Given the description of an element on the screen output the (x, y) to click on. 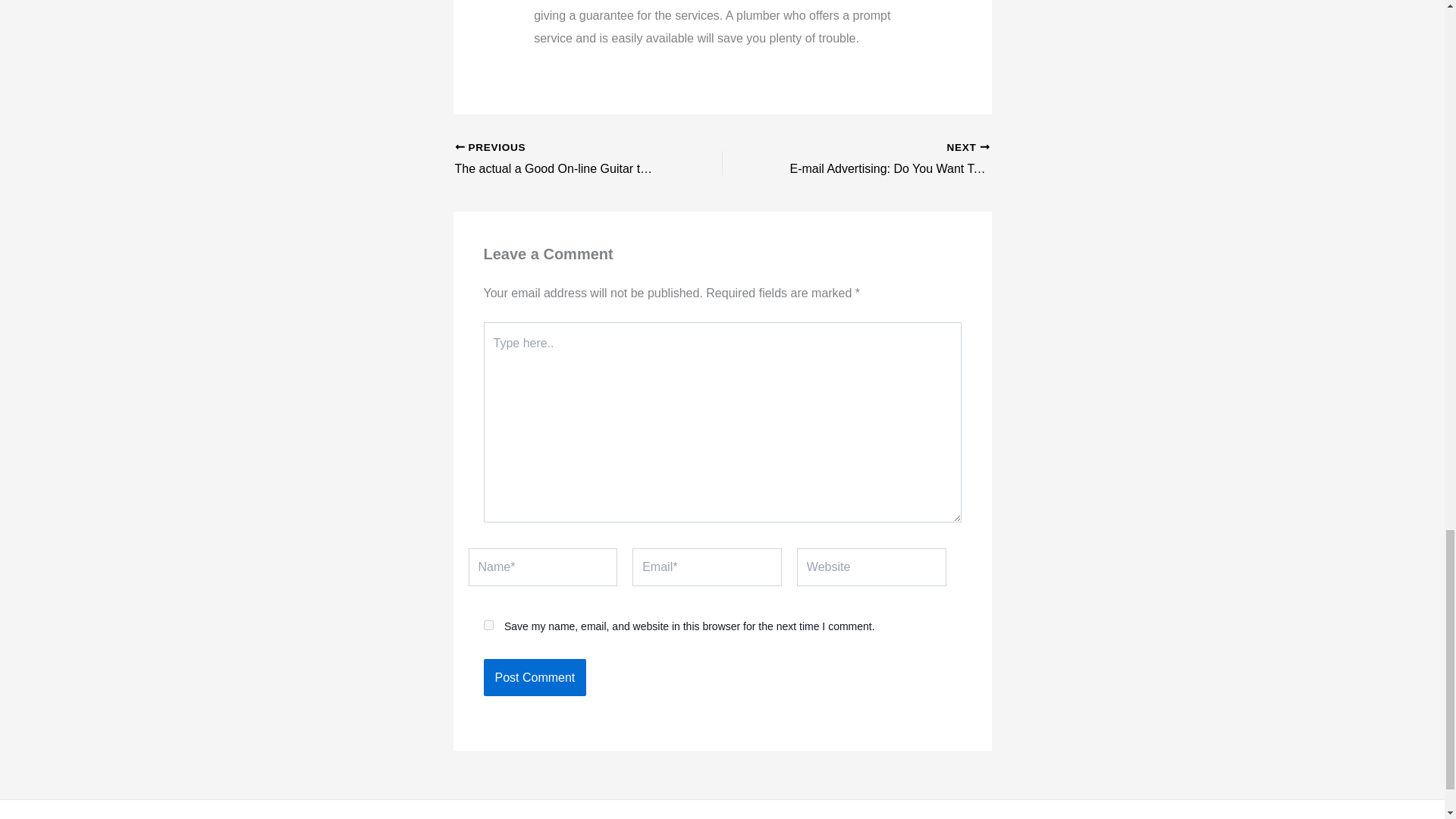
Post Comment (534, 677)
Post Comment (534, 677)
yes (488, 624)
